Given the description of an element on the screen output the (x, y) to click on. 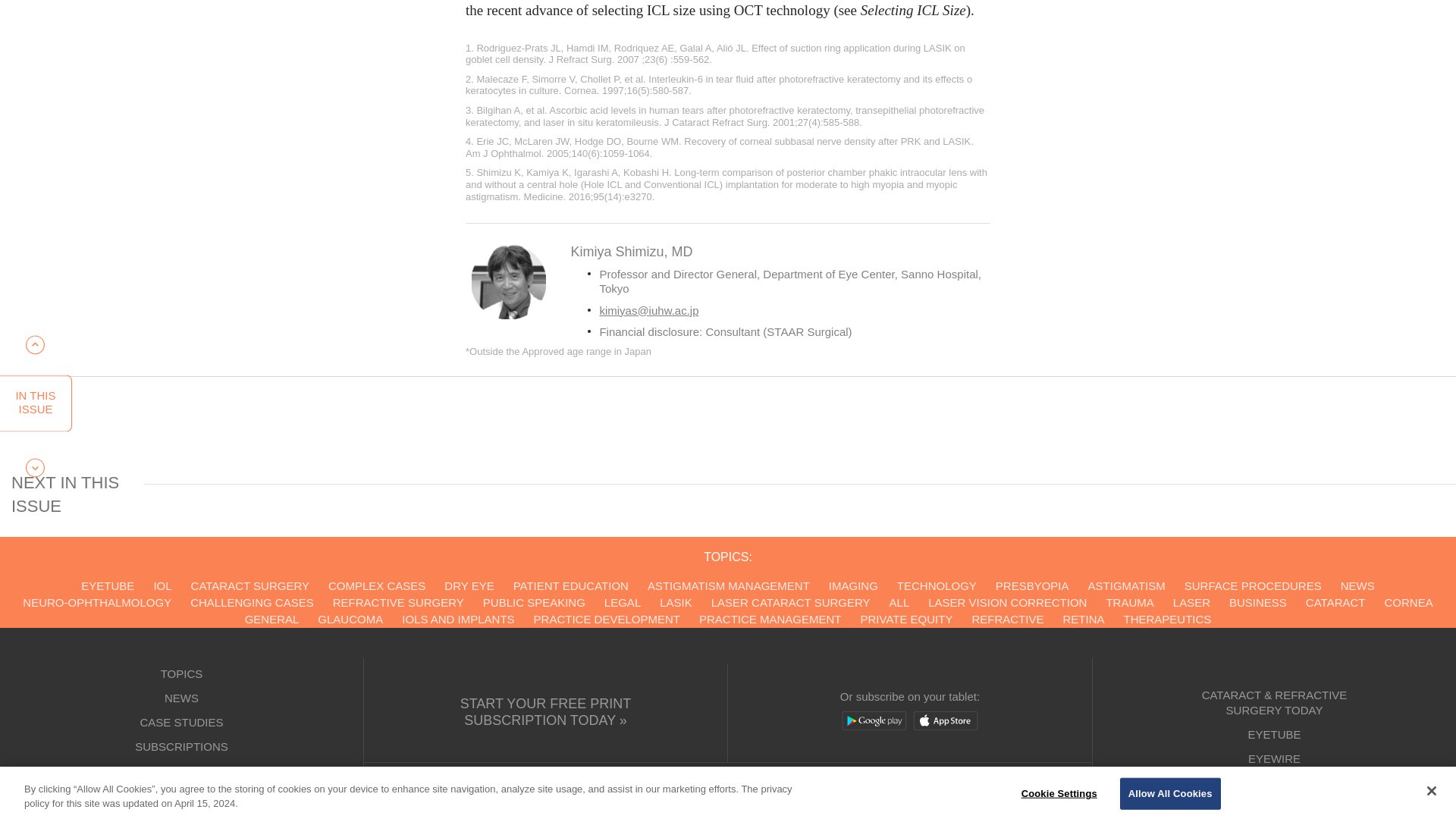
View all post filed under Eyetube (107, 585)
View all post filed under Presbyopia (1031, 585)
View all post filed under Cataract Surgery (249, 585)
View all post filed under Patient Education (570, 585)
View all post filed under Technology (936, 585)
View all post filed under Complex Cases (377, 585)
View all post filed under Imaging (852, 585)
View all post filed under Neuro-Ophthalmology (97, 602)
View all post filed under Astigmatism (1126, 585)
View all post filed under Astigmatism Management (728, 585)
View all post filed under Refractive Surgery (398, 602)
View all post filed under Challenging Cases (252, 602)
View all post filed under Surface Procedures (1253, 585)
View all post filed under News (1357, 585)
View all post filed under IOL (161, 585)
